Given the description of an element on the screen output the (x, y) to click on. 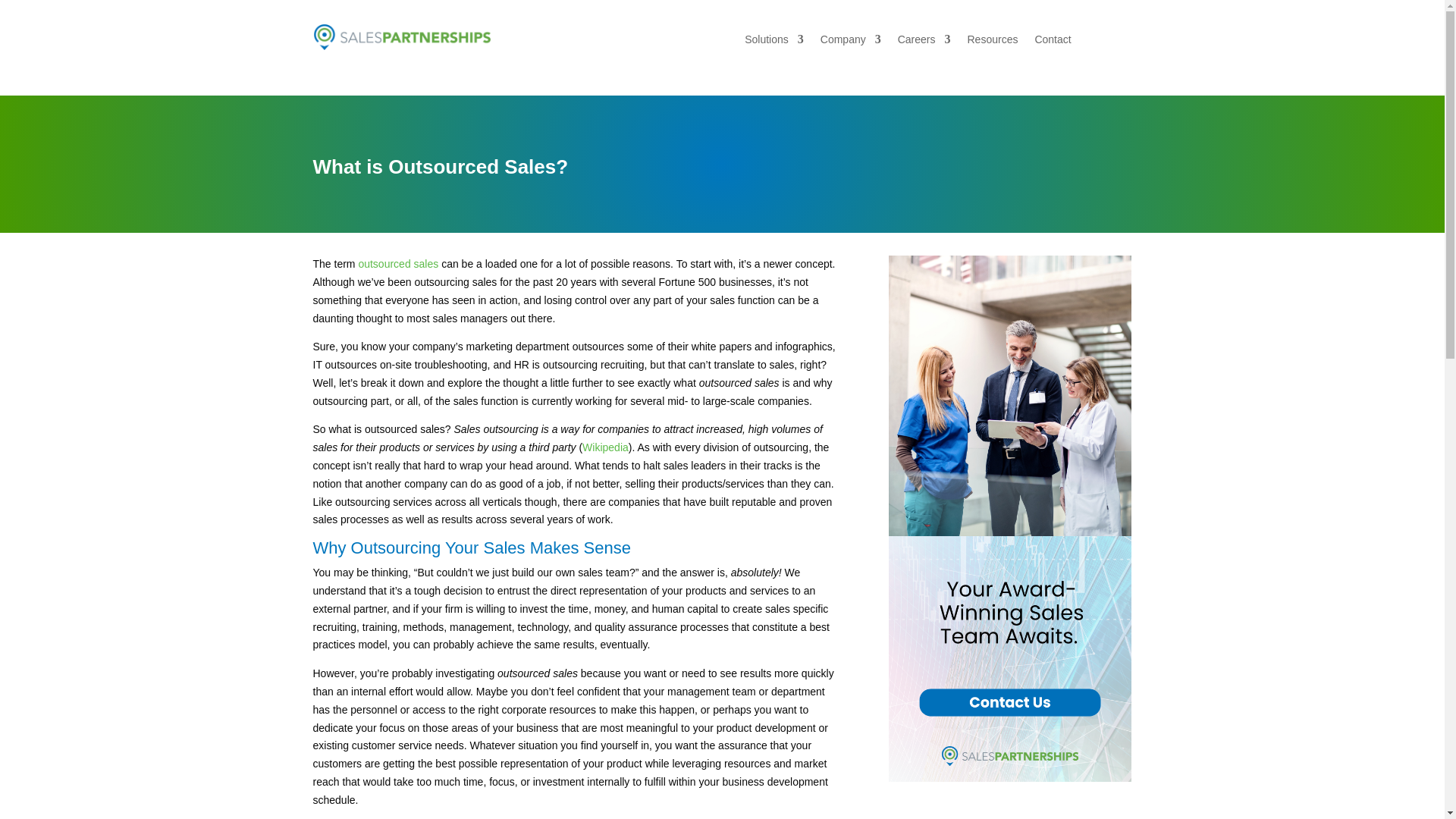
Contact (1051, 42)
Company (850, 42)
Sales Partnerships, Inc. (401, 36)
Resources (992, 42)
Solutions (773, 42)
Careers (924, 42)
